Given the description of an element on the screen output the (x, y) to click on. 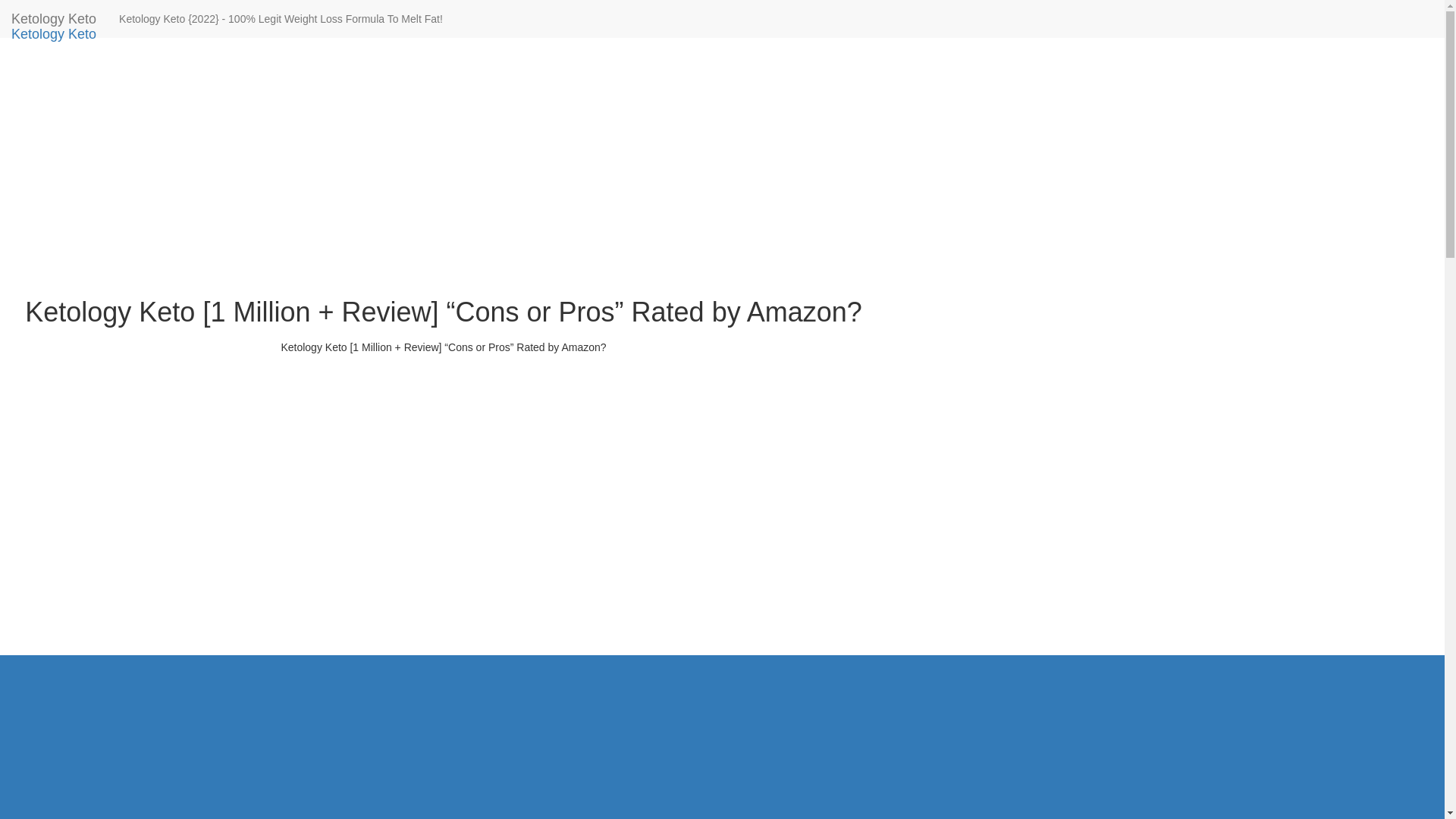
Ketology Keto (53, 18)
Ketology Keto (53, 34)
Ketology Keto (53, 18)
Ketology Keto (53, 34)
